Given the description of an element on the screen output the (x, y) to click on. 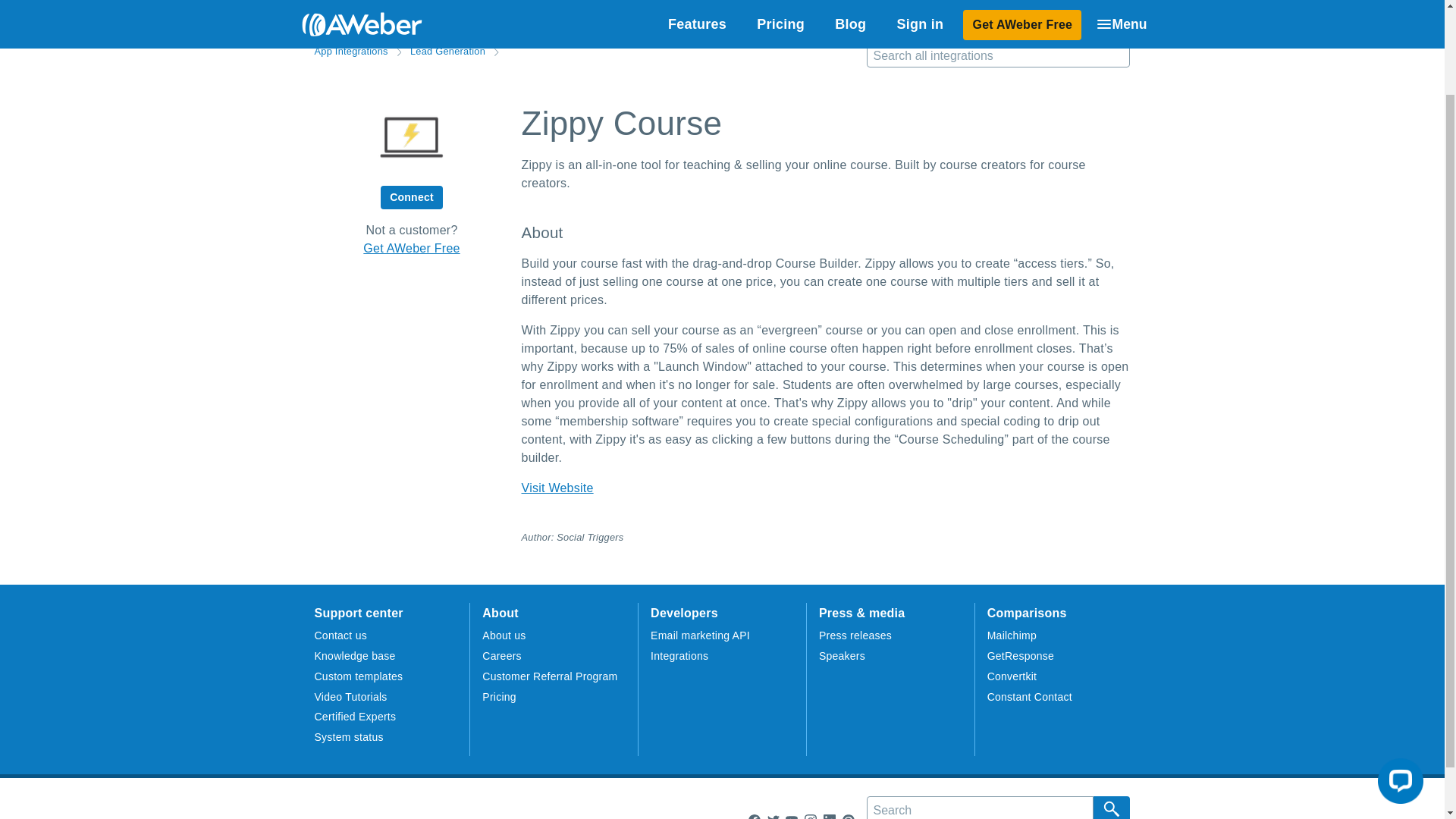
Connect (411, 197)
Get AWeber Free (411, 247)
App Integrations (350, 50)
Lead Generation (447, 50)
